Given the description of an element on the screen output the (x, y) to click on. 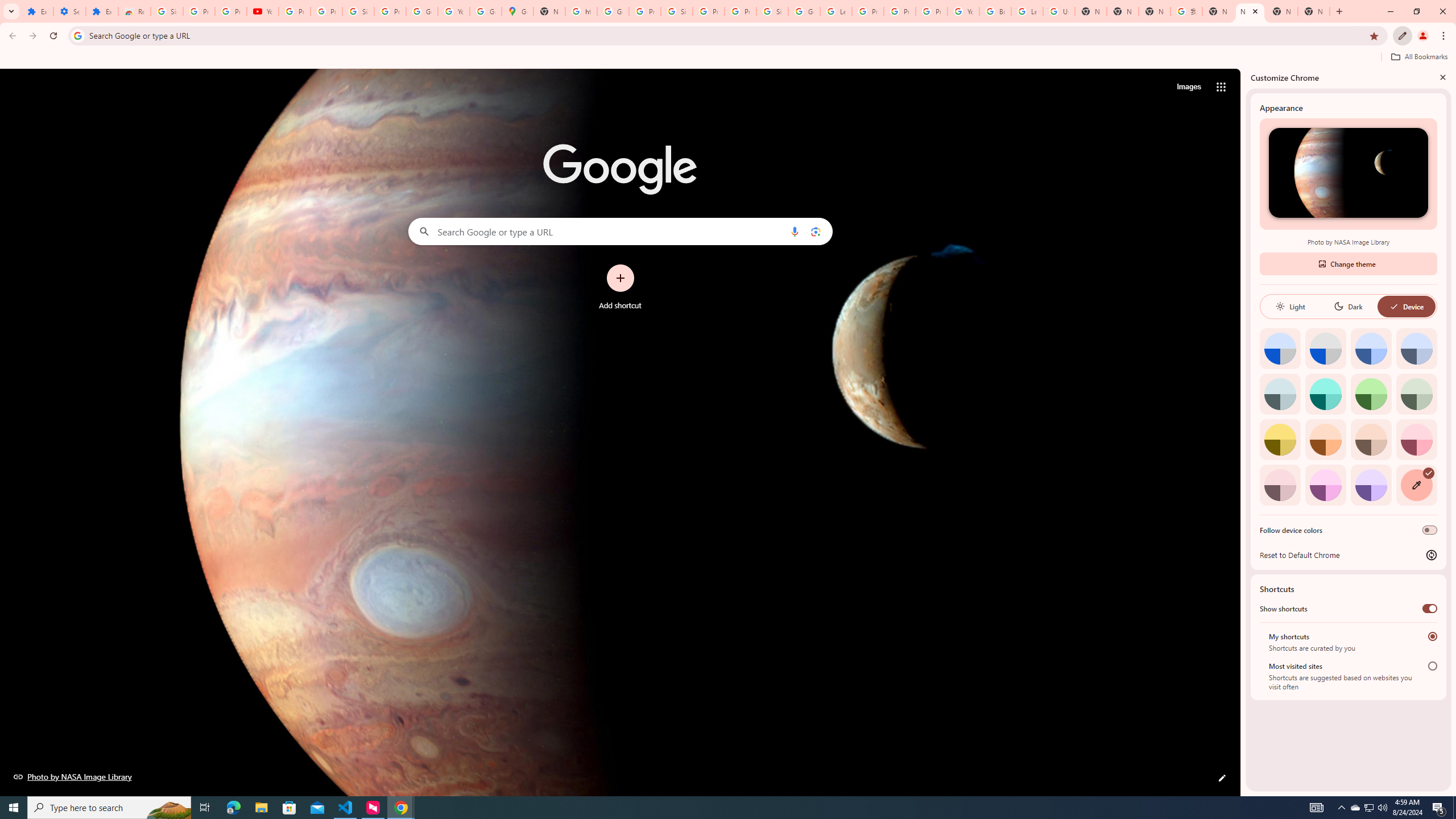
Orange (1325, 439)
All Bookmarks (1418, 56)
Settings (69, 11)
https://scholar.google.com/ (581, 11)
Custom color (1416, 484)
Extensions (101, 11)
Sign in - Google Accounts (166, 11)
Add shortcut (620, 287)
Reset to Default Chrome (1347, 554)
Default color (1279, 348)
New Tab (1123, 11)
Blue (1371, 348)
